Given the description of an element on the screen output the (x, y) to click on. 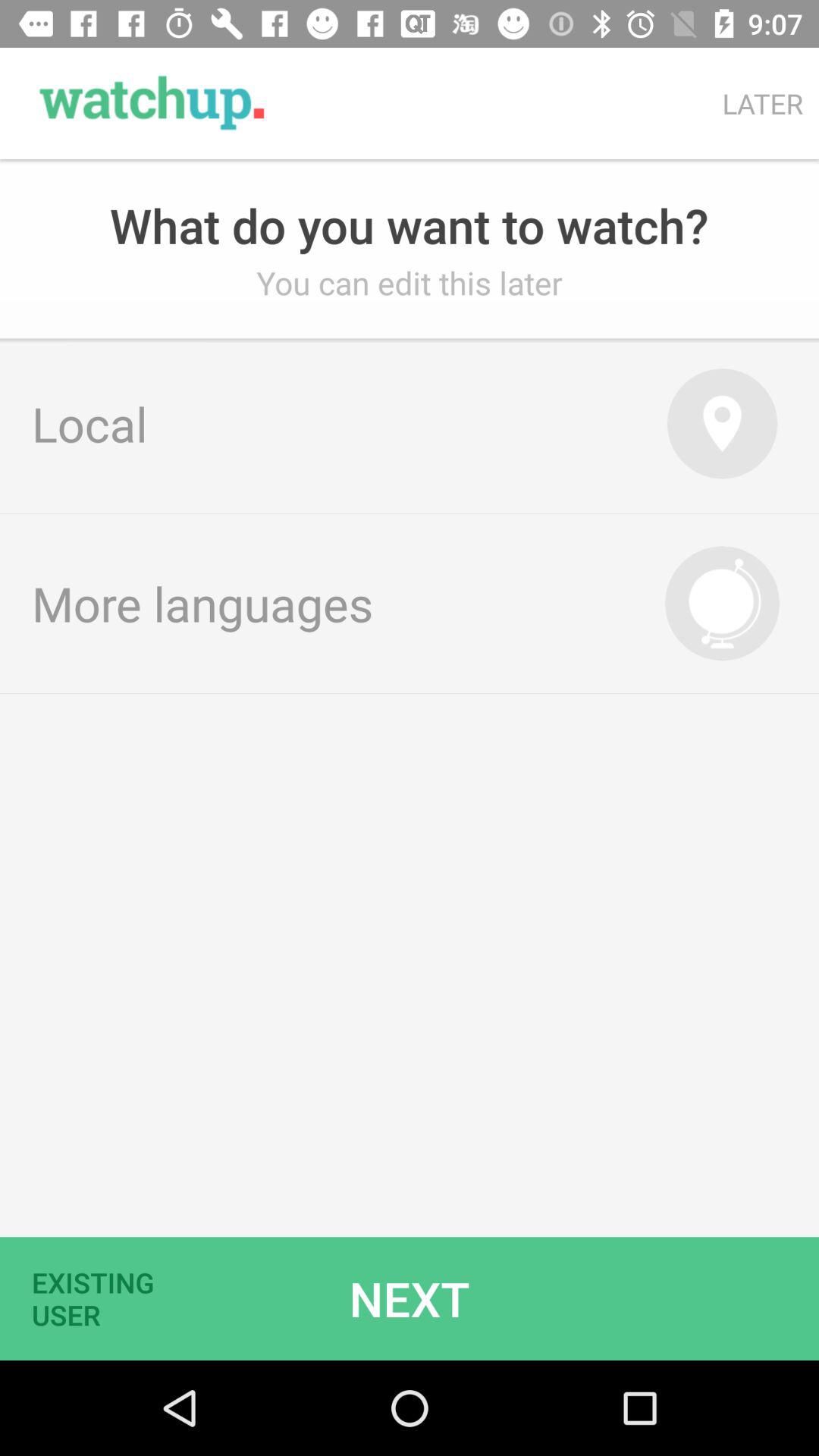
tap the next item (409, 1298)
